Given the description of an element on the screen output the (x, y) to click on. 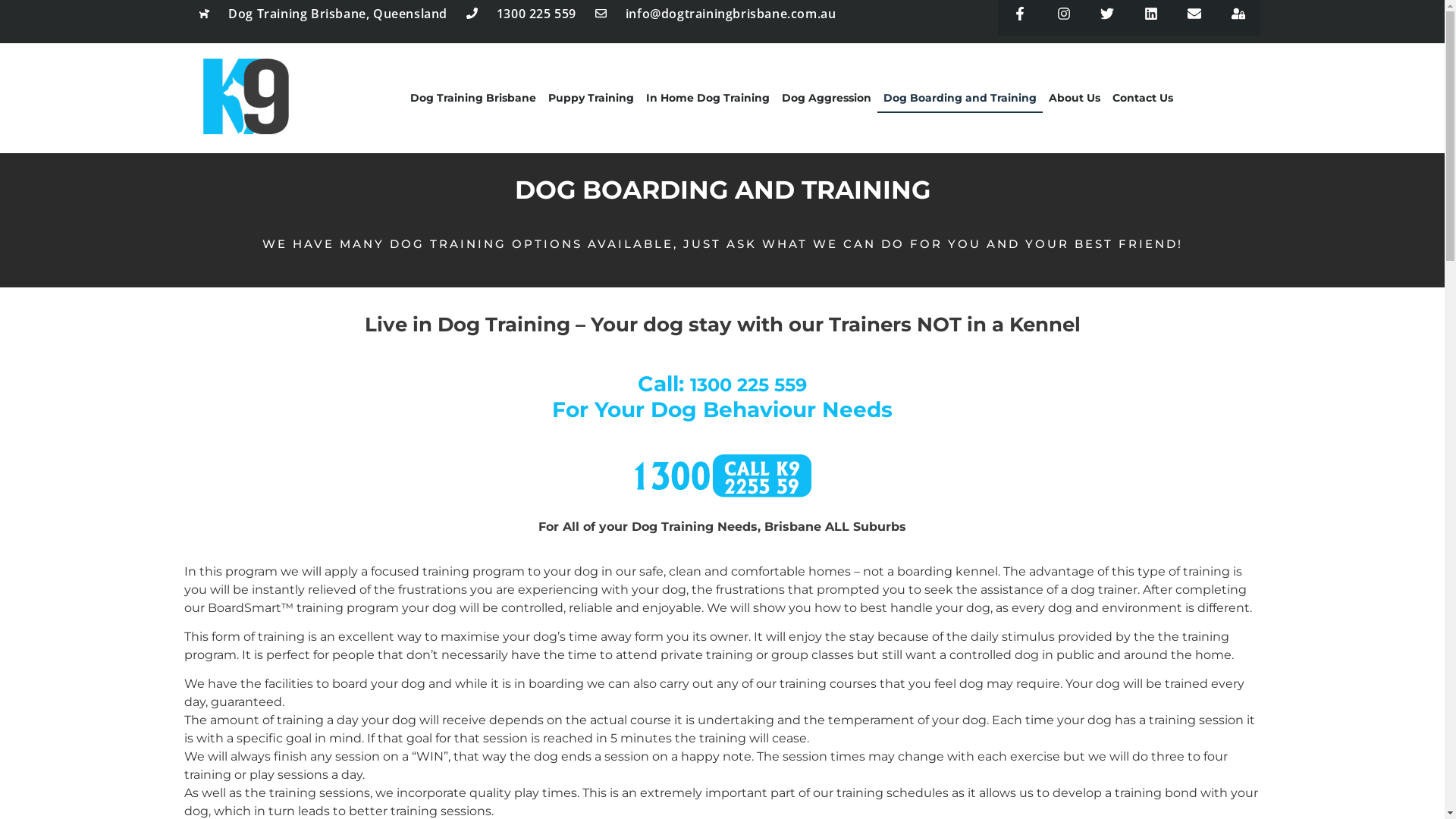
For Your Dog Behaviour Needs Element type: text (722, 422)
The K9 Centre Dog Trainers Brisbane All Suburbs Element type: hover (246, 96)
In Home Dog Training Element type: text (707, 97)
Contact Us Element type: text (1142, 97)
Dog Training Brisbane Element type: text (473, 97)
Call: Element type: text (663, 383)
About Us Element type: text (1074, 97)
Dog Aggression Element type: text (826, 97)
1300 225 559 Element type: text (748, 383)
Puppy Training Element type: text (591, 97)
Dog Boarding and Training Element type: text (959, 97)
1300 225 559 Element type: text (521, 13)
Dog Training Brisbane, Queensland Element type: text (323, 13)
info@dogtrainingbrisbane.com.au Element type: text (715, 13)
